Given the description of an element on the screen output the (x, y) to click on. 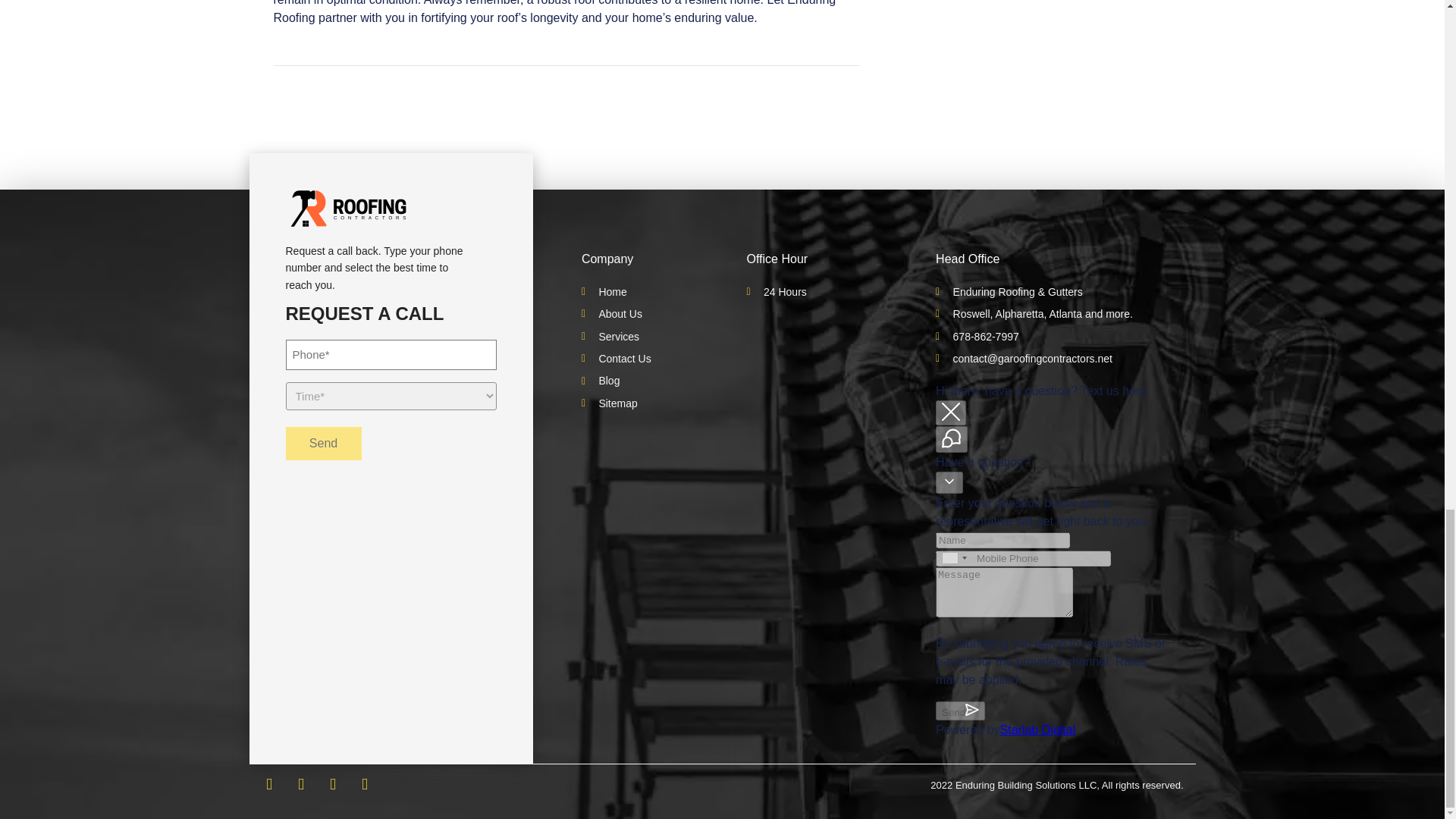
RC-Website (347, 208)
Send (323, 443)
